Given the description of an element on the screen output the (x, y) to click on. 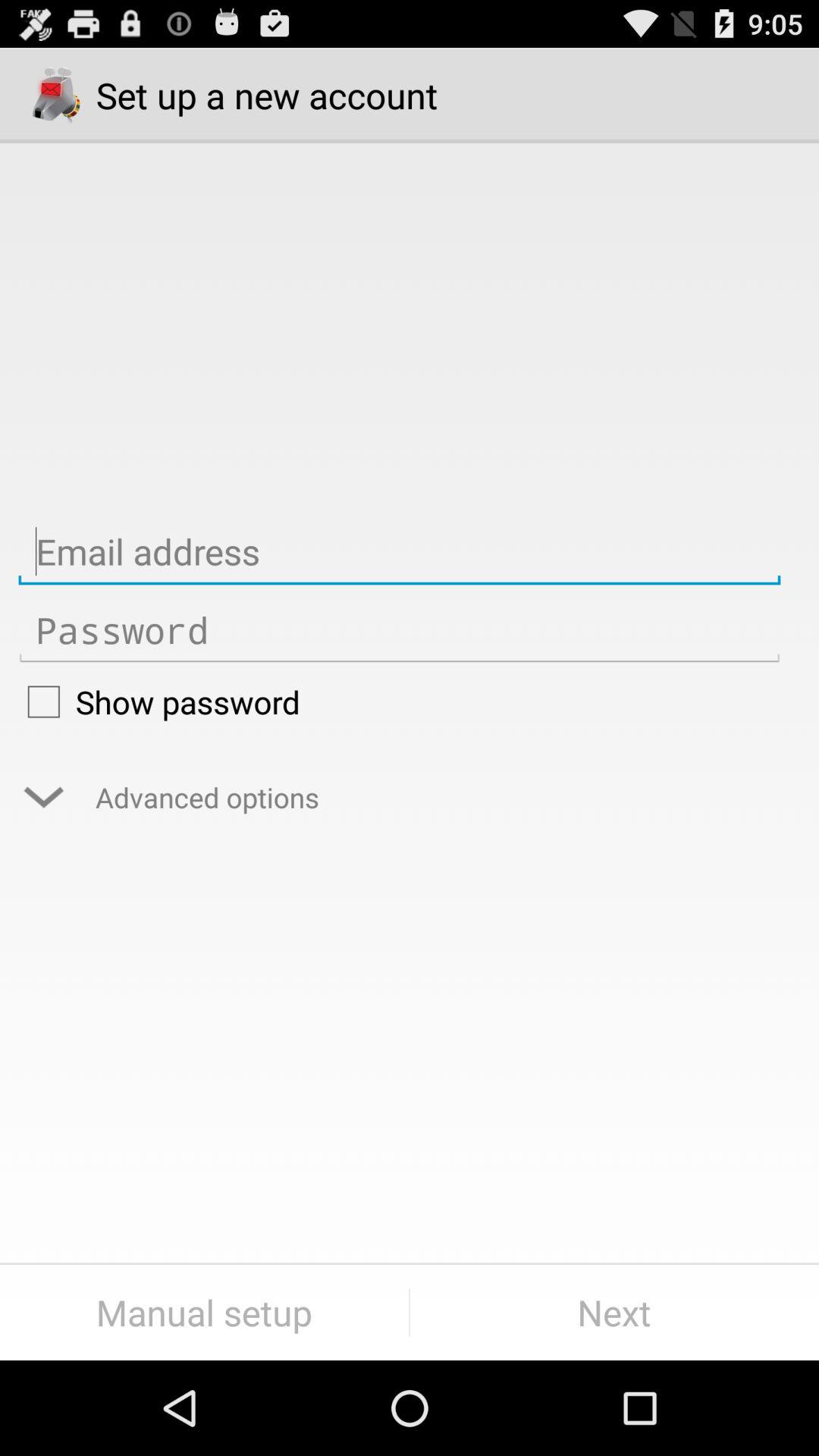
email address (399, 552)
